Given the description of an element on the screen output the (x, y) to click on. 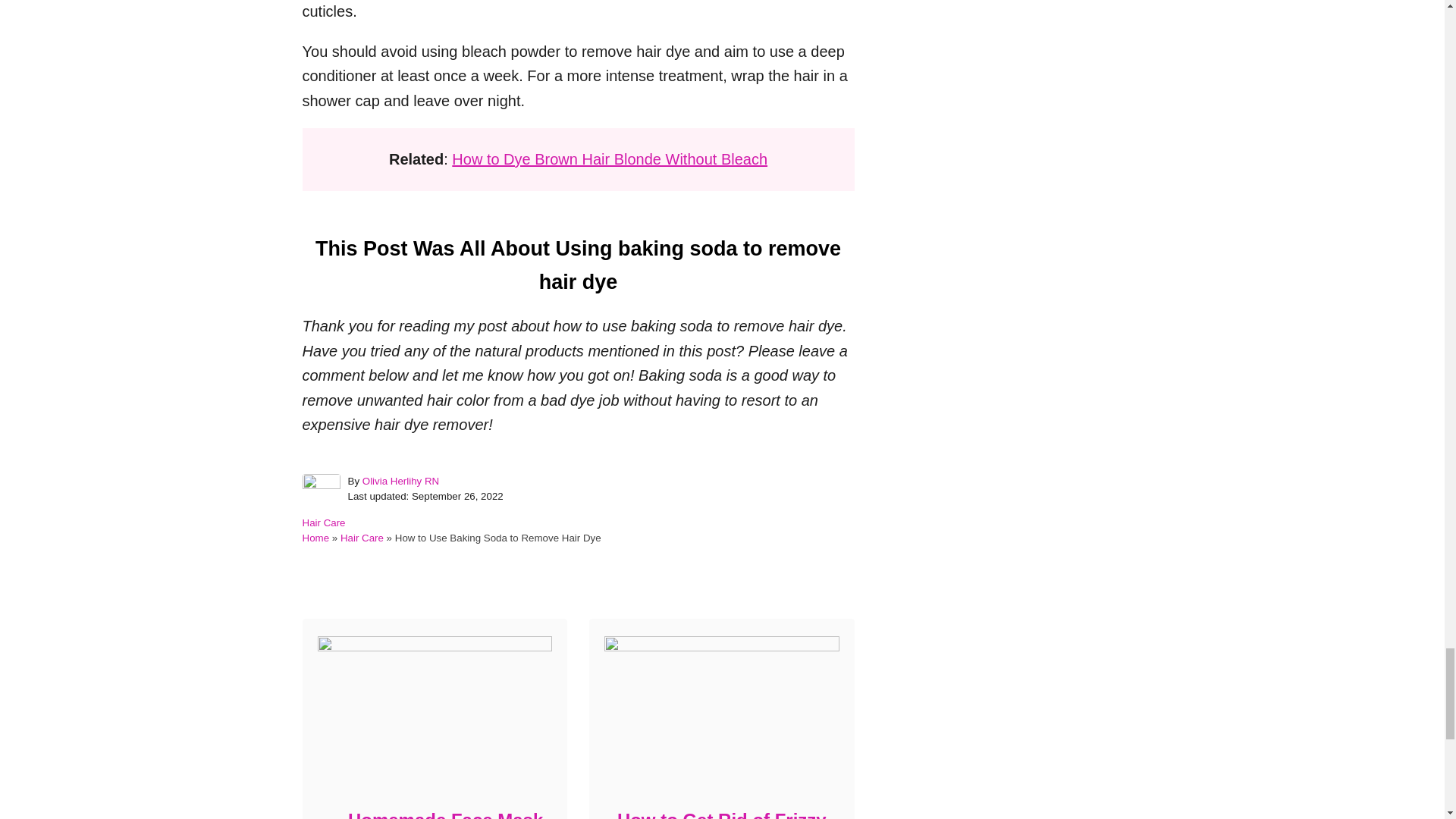
Hair Care (323, 522)
How to Dye Brown Hair Blonde Without Bleach (609, 158)
Olivia Herlihy RN (400, 480)
Home (315, 537)
Hair Care (362, 537)
How to Get Rid of Frizzy Curly Hair (721, 812)
